Given the description of an element on the screen output the (x, y) to click on. 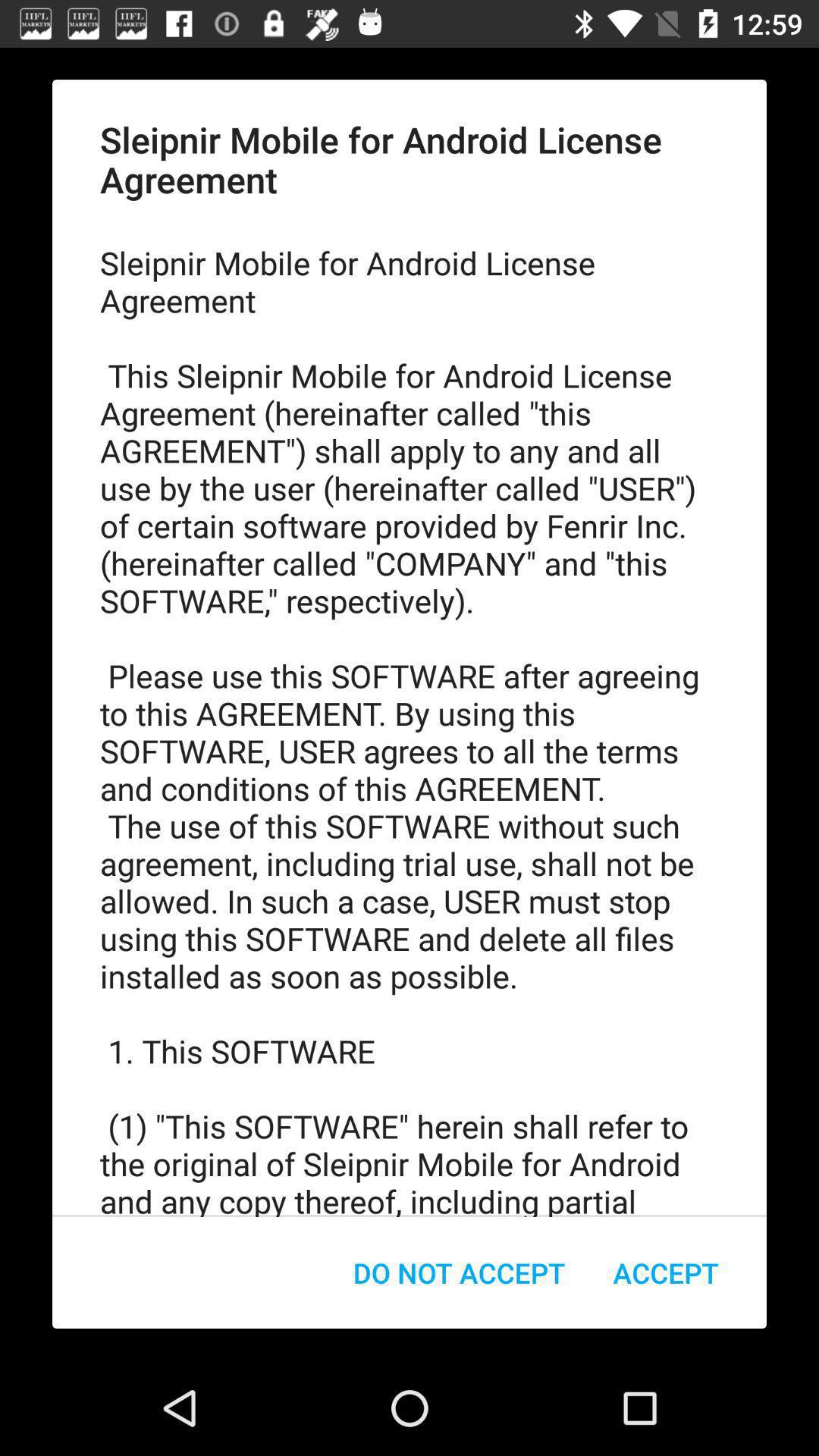
press do not accept icon (459, 1272)
